Given the description of an element on the screen output the (x, y) to click on. 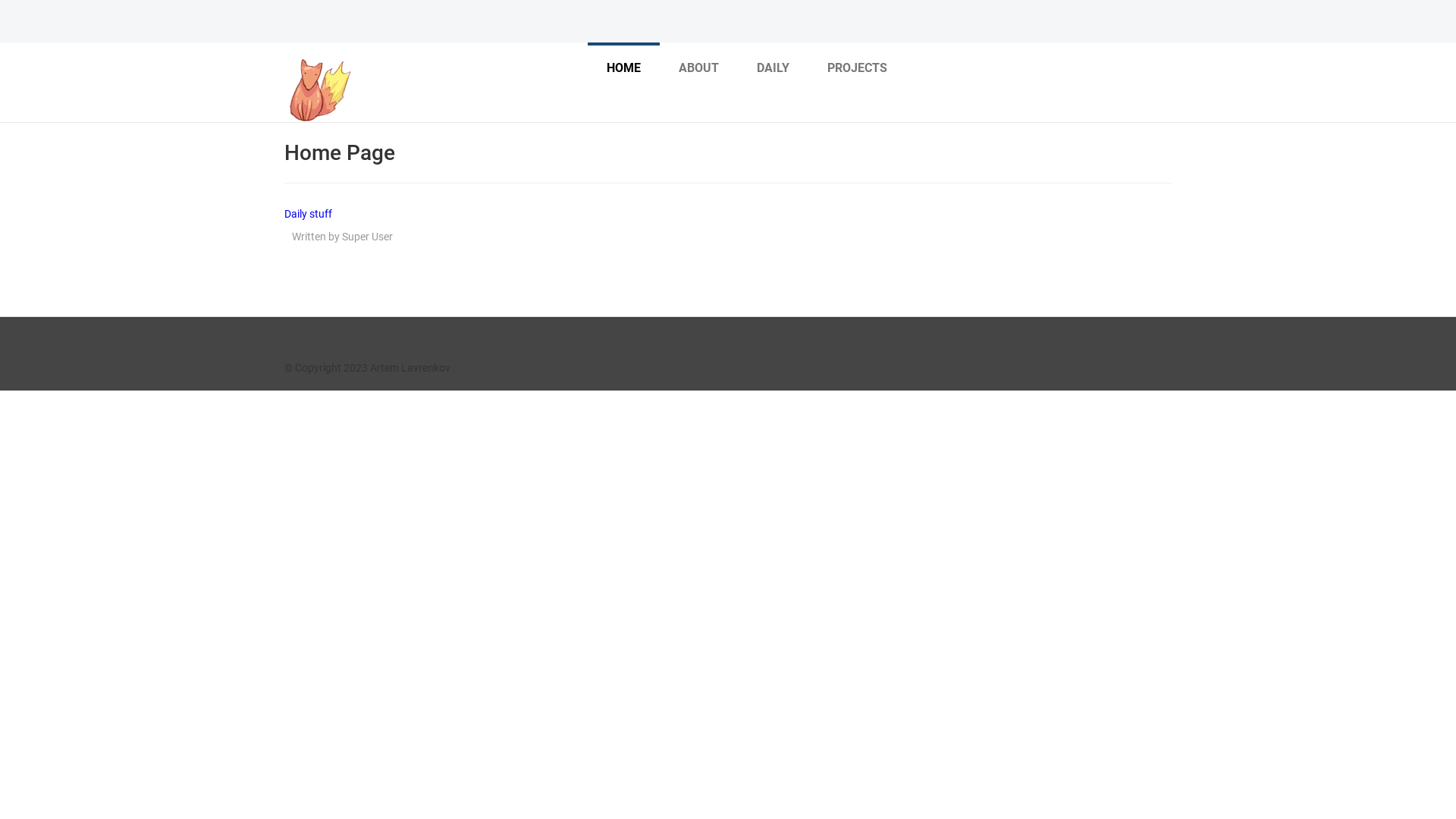
ABOUT Element type: text (698, 67)
DAILY Element type: text (772, 67)
PROJECTS Element type: text (856, 67)
Daily stuff Element type: text (308, 213)
HOME Element type: text (623, 67)
